Given the description of an element on the screen output the (x, y) to click on. 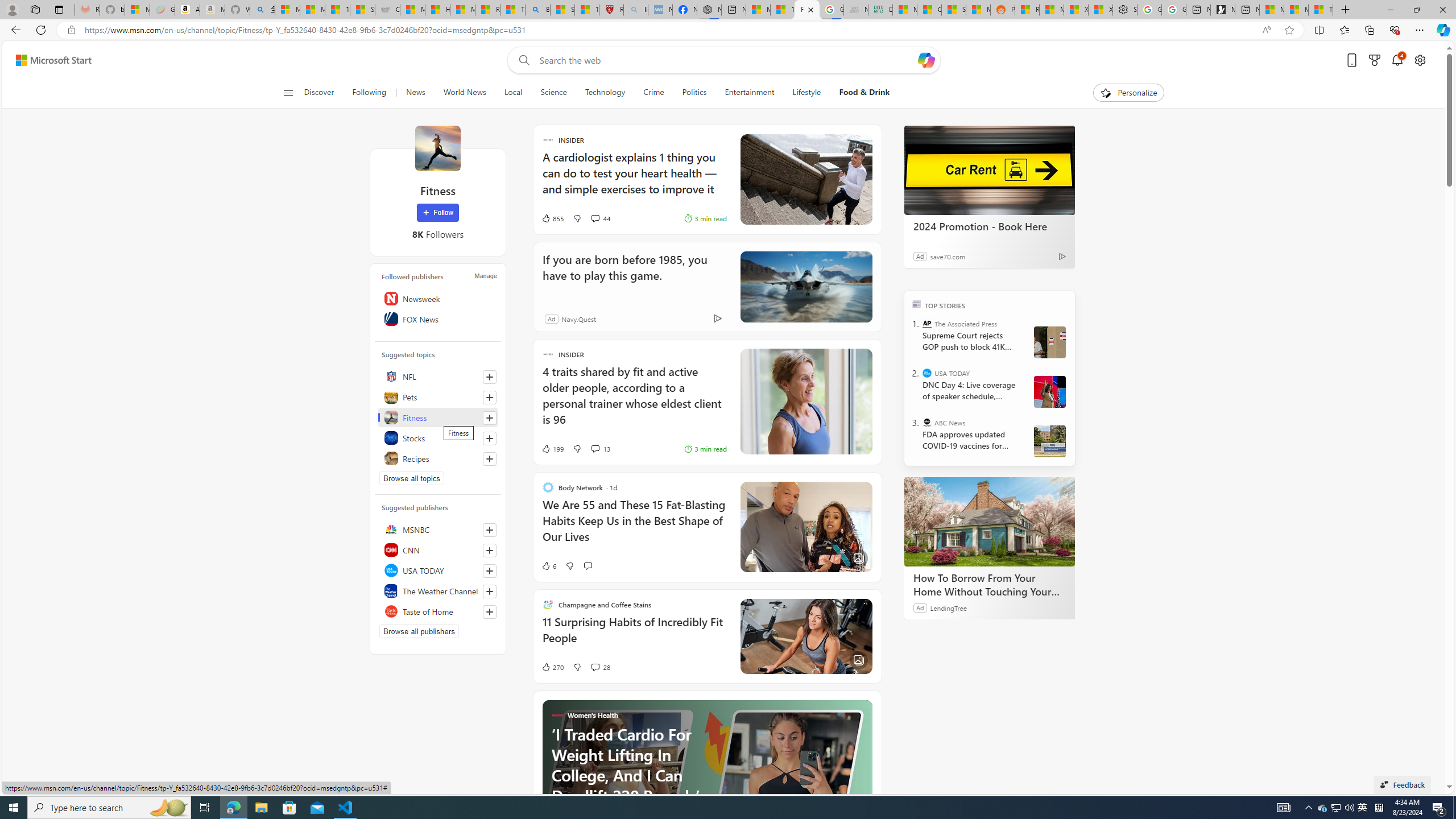
Browse all topics (412, 477)
Lifestyle (806, 92)
199 Like (551, 448)
Entertainment (749, 92)
Food & Drink (859, 92)
MSN (977, 9)
